Given the description of an element on the screen output the (x, y) to click on. 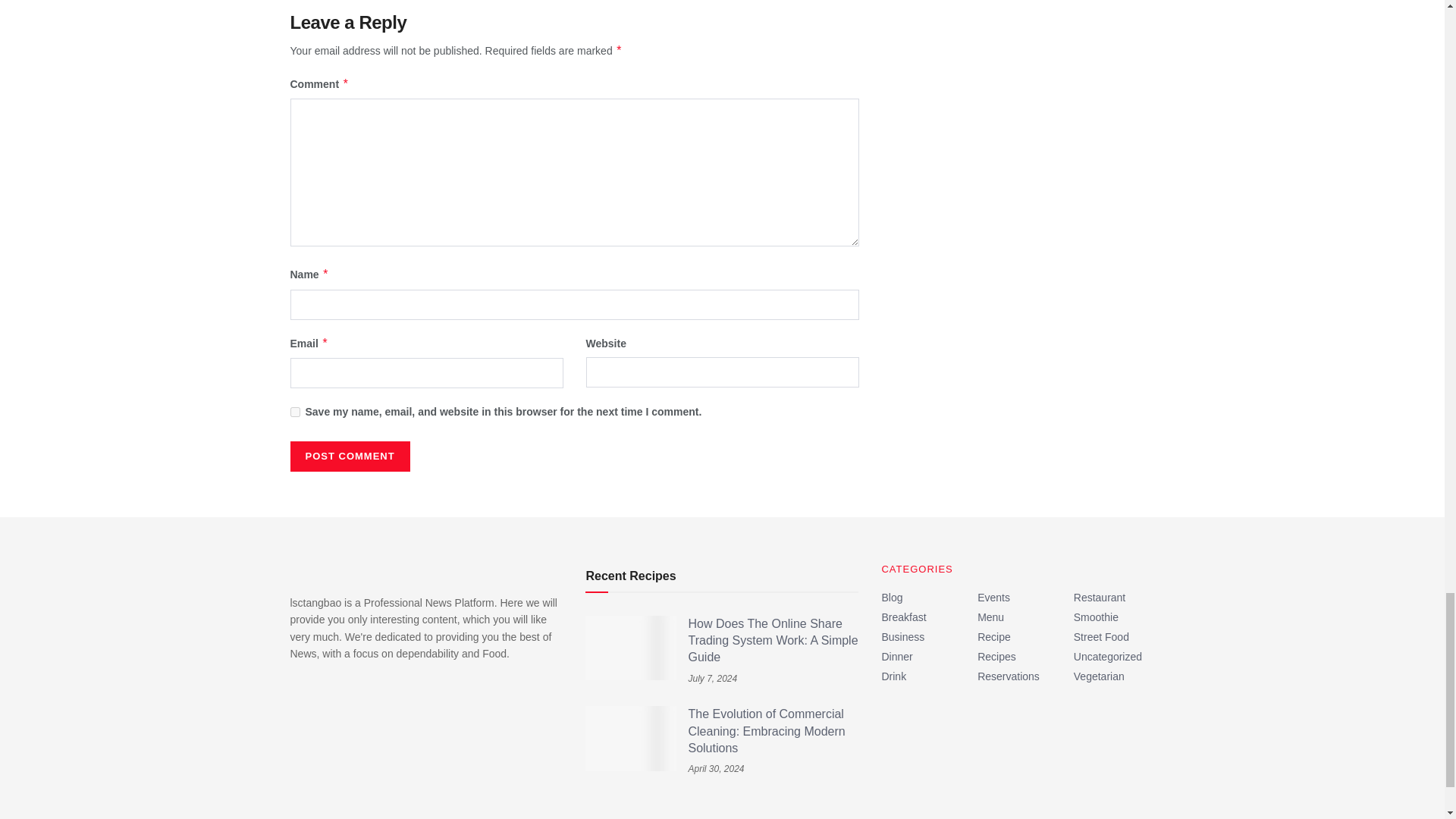
Post Comment (349, 456)
yes (294, 411)
Post Comment (349, 456)
